Given the description of an element on the screen output the (x, y) to click on. 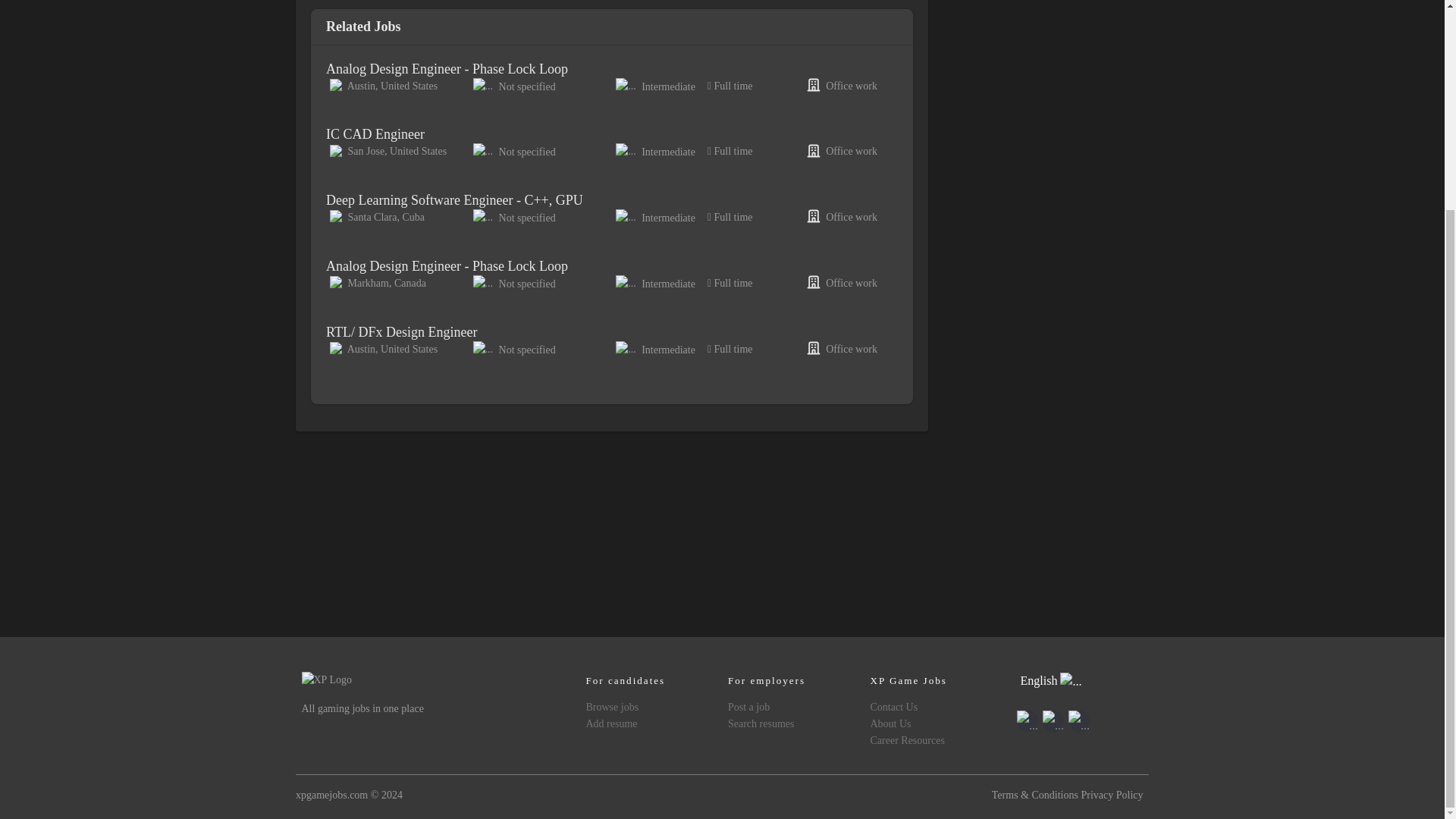
Post a job (749, 706)
English (1051, 680)
Contact Us (893, 706)
Career Resources (906, 740)
Browse jobs (612, 706)
Add resume (611, 723)
Search resumes (760, 723)
About Us (890, 723)
